Given the description of an element on the screen output the (x, y) to click on. 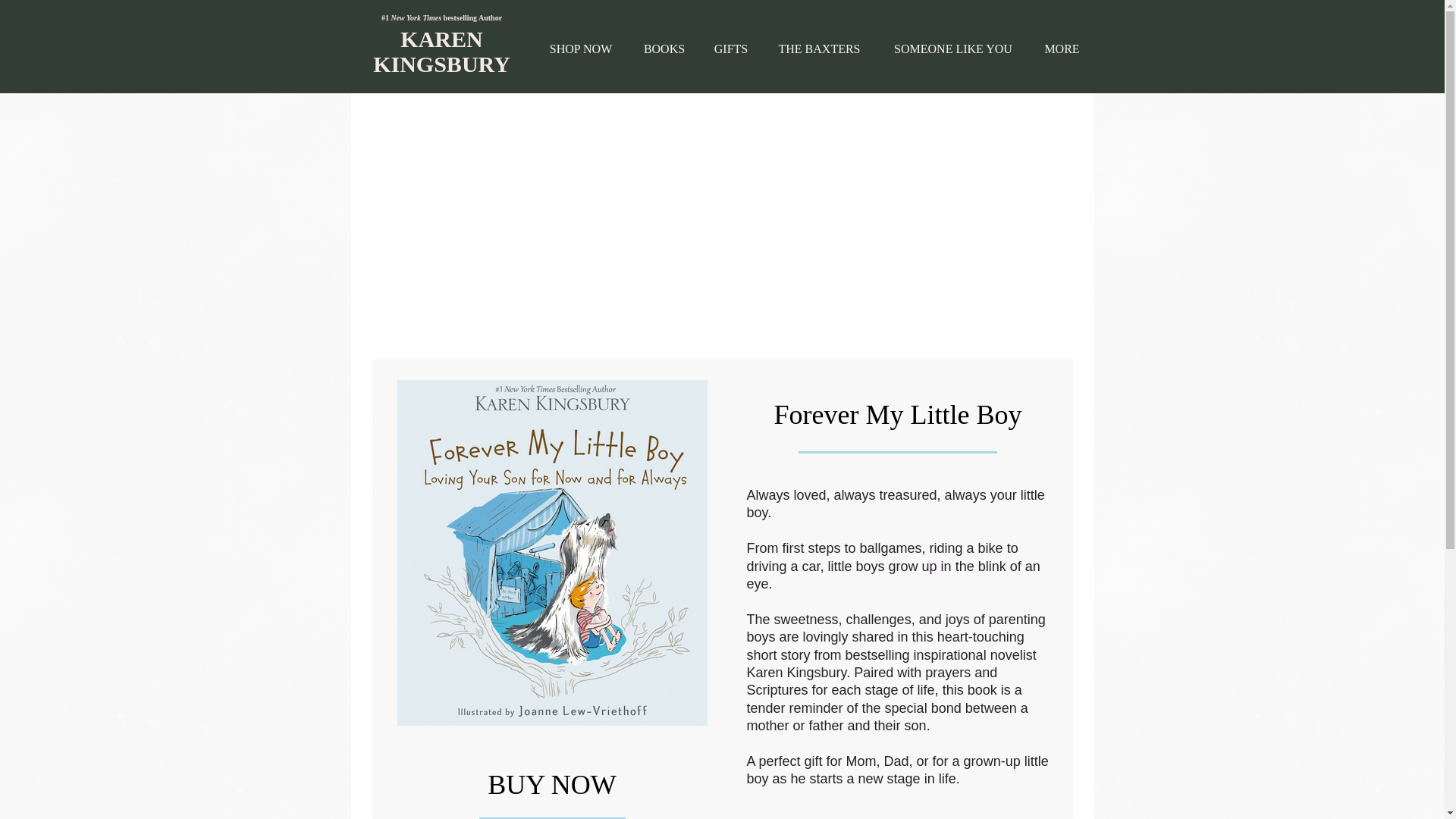
SHOP NOW (580, 48)
Forever My Little Boy (552, 552)
SOMEONE LIKE YOU (953, 48)
GIFTS (729, 48)
THE BAXTERS (819, 48)
KAREN KINGSBURY (441, 51)
BOOKS (664, 48)
